Given the description of an element on the screen output the (x, y) to click on. 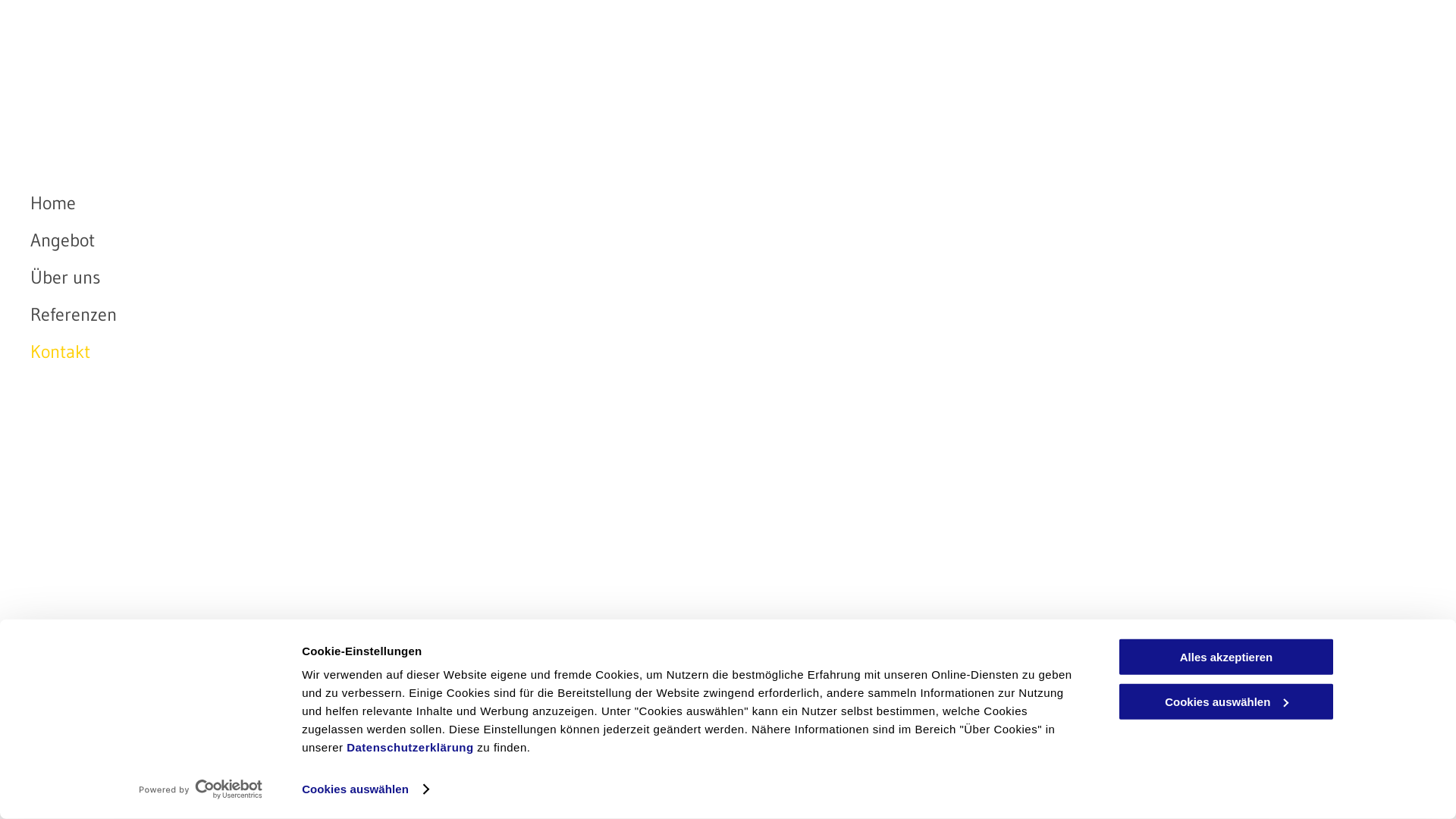
Alles akzeptieren Element type: text (1225, 656)
Angebot Element type: text (357, 239)
Referenzen Element type: text (357, 313)
Home Element type: text (357, 202)
Kontakt Element type: text (357, 351)
